Given the description of an element on the screen output the (x, y) to click on. 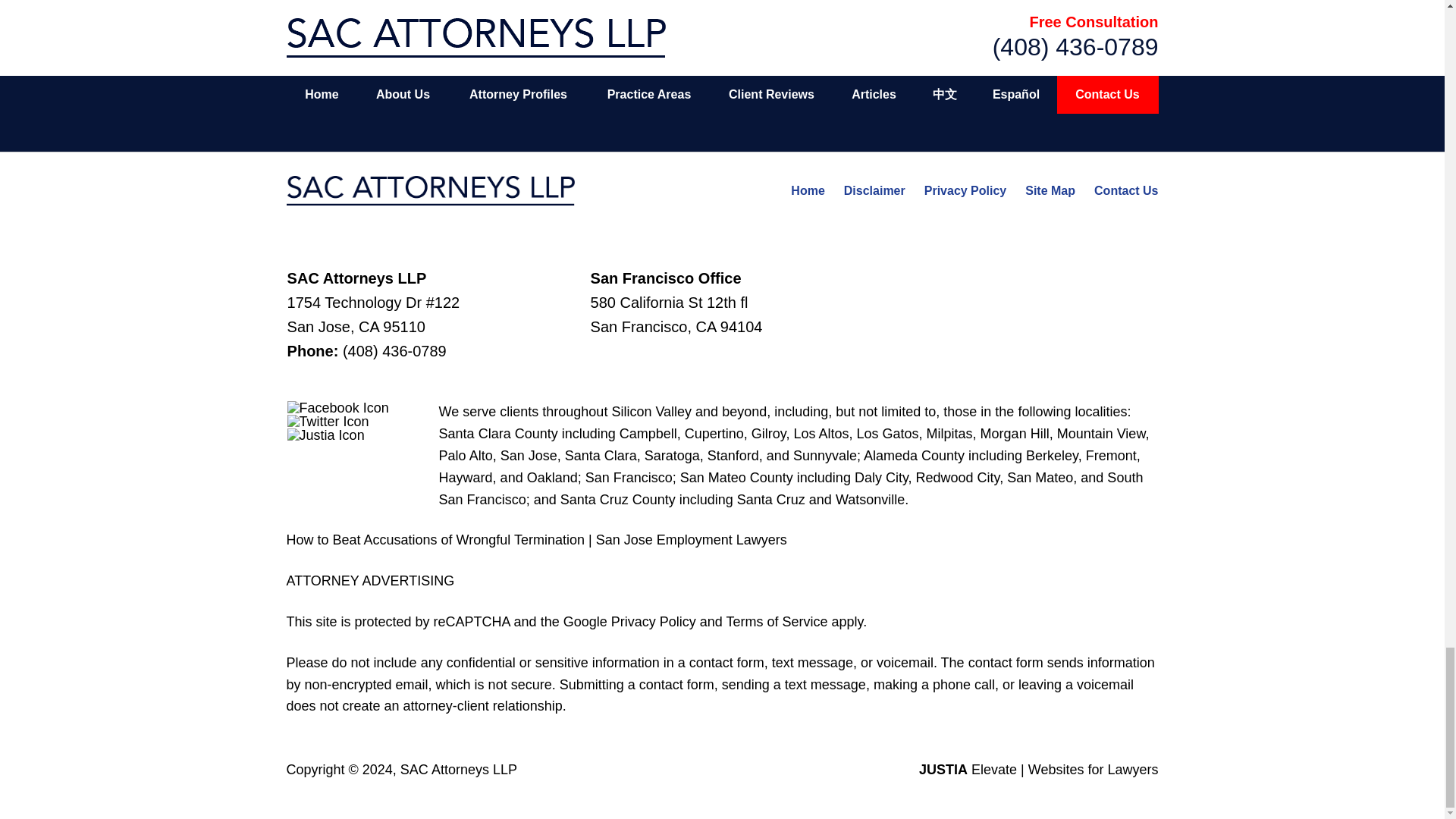
Facebook (337, 407)
Justia (325, 435)
Twitter (327, 421)
